Given the description of an element on the screen output the (x, y) to click on. 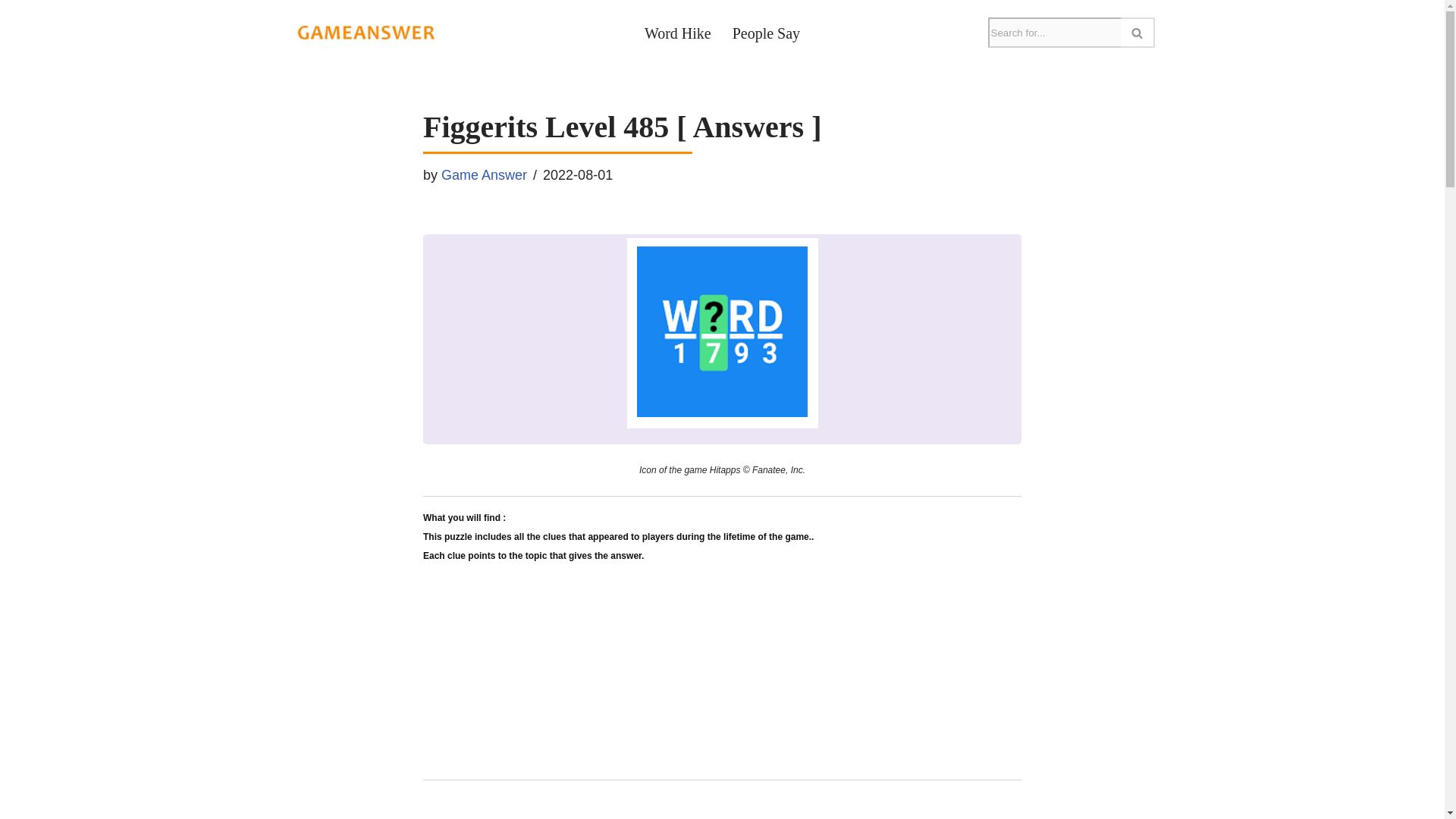
Posts by Game Answer (484, 174)
Game Answer (484, 174)
Word Hike (678, 32)
People Say (765, 32)
Word Hike (678, 32)
Skip to content (11, 31)
